Given the description of an element on the screen output the (x, y) to click on. 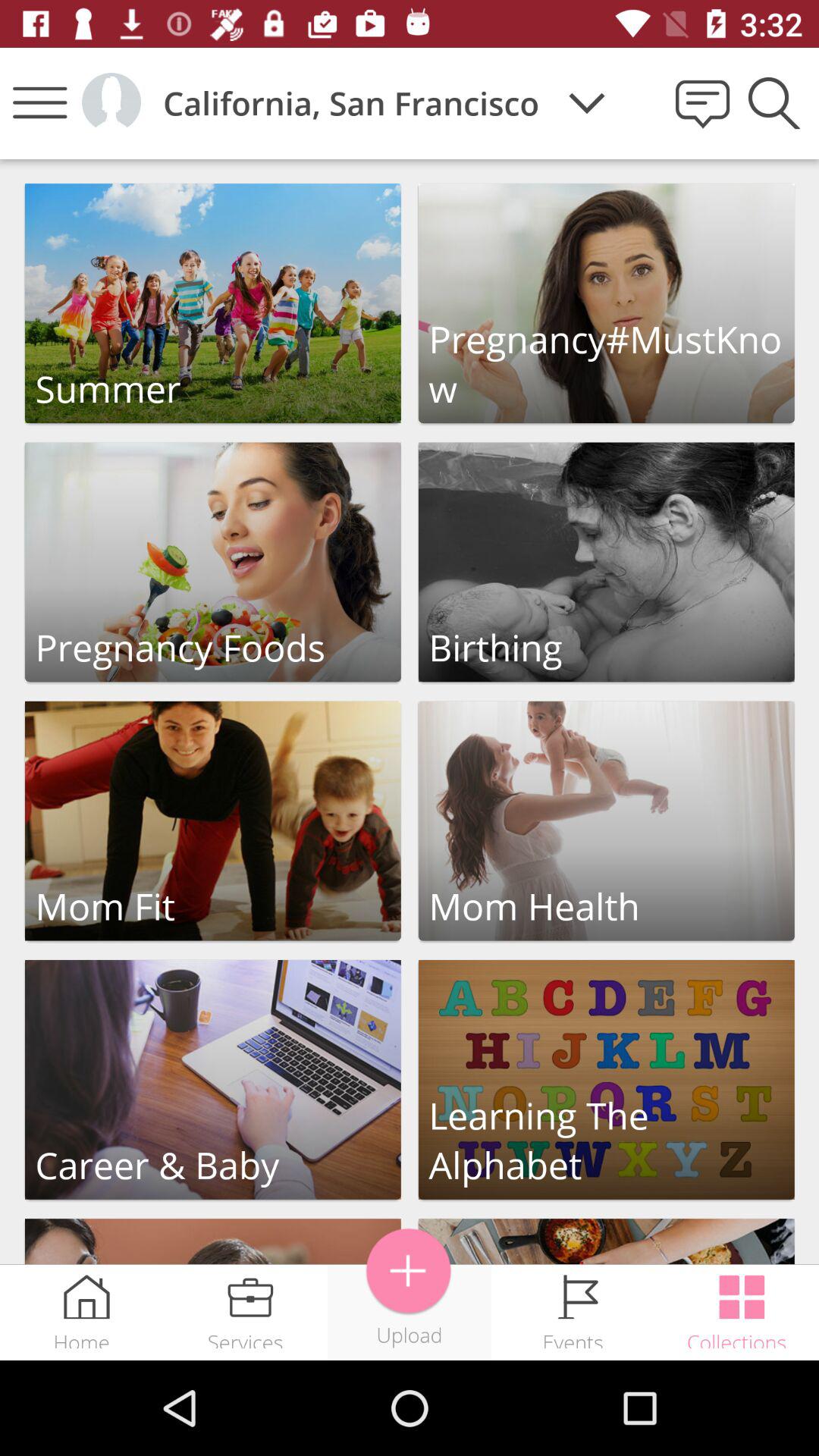
mom health (606, 820)
